Given the description of an element on the screen output the (x, y) to click on. 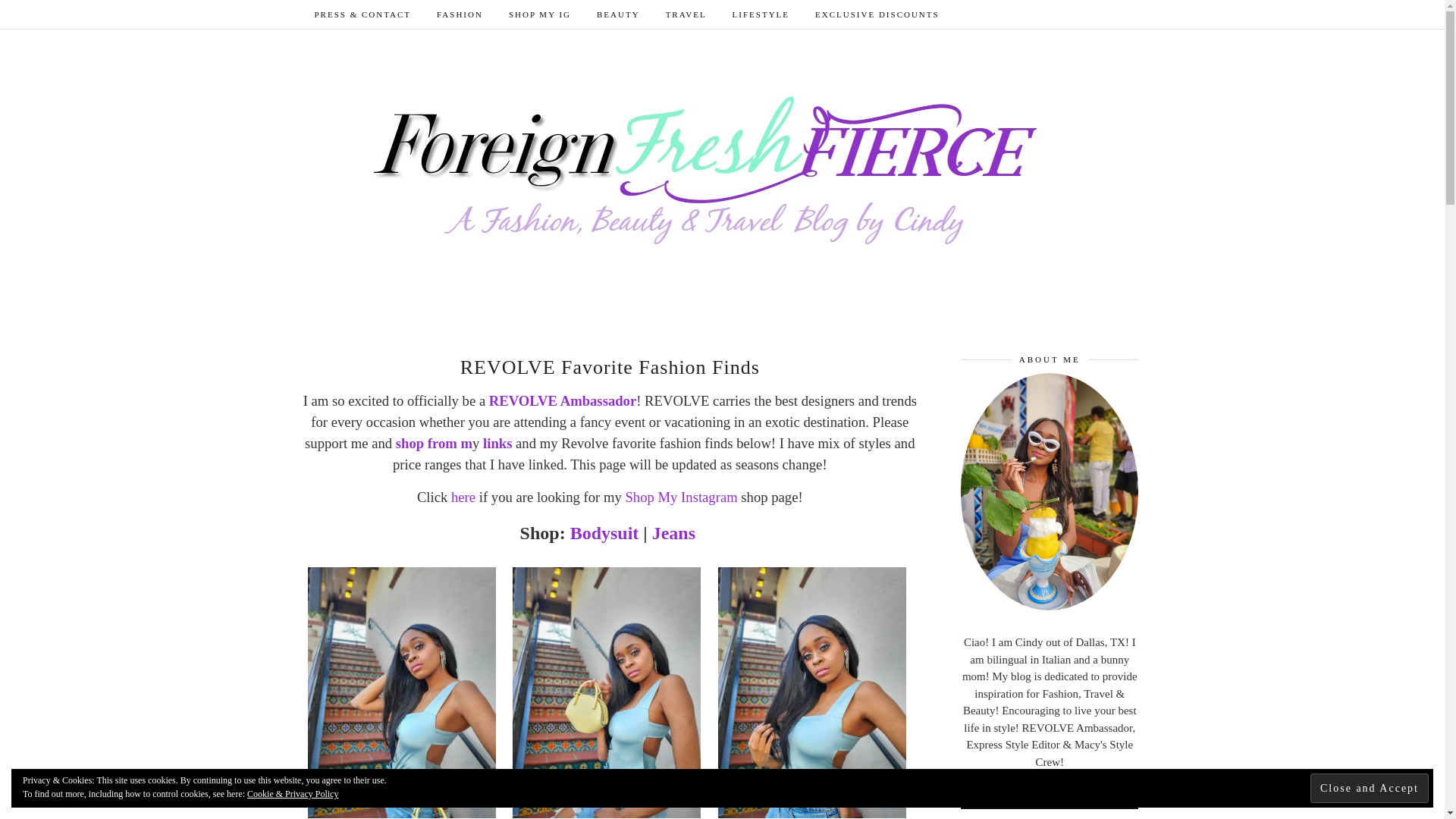
Close and Accept (1369, 788)
